Given the description of an element on the screen output the (x, y) to click on. 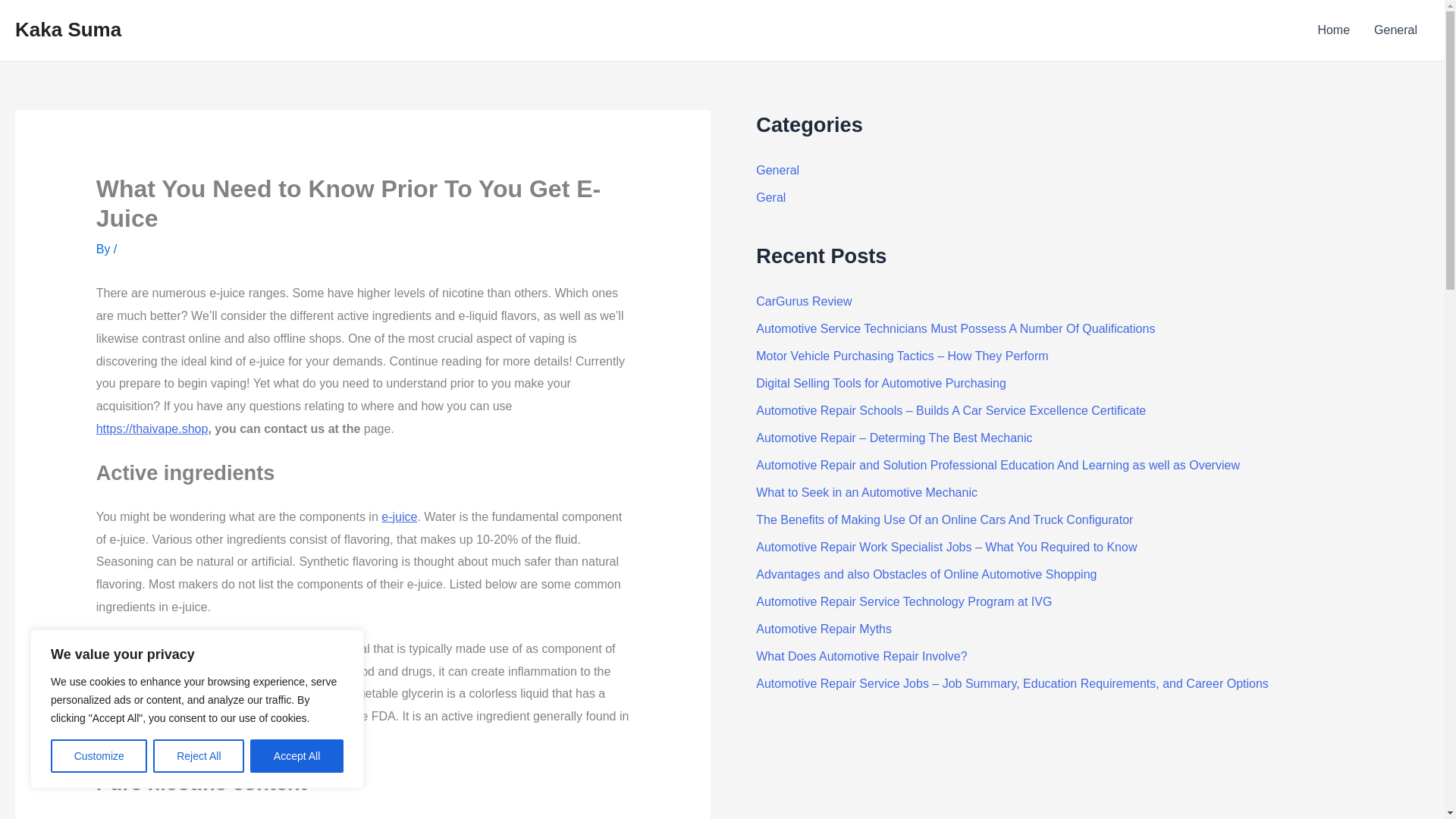
e-juice (398, 516)
CarGurus Review (803, 300)
Accept All (296, 756)
Geral (770, 196)
Home (1332, 30)
Reject All (198, 756)
General (777, 169)
Customize (98, 756)
General (1395, 30)
